Given the description of an element on the screen output the (x, y) to click on. 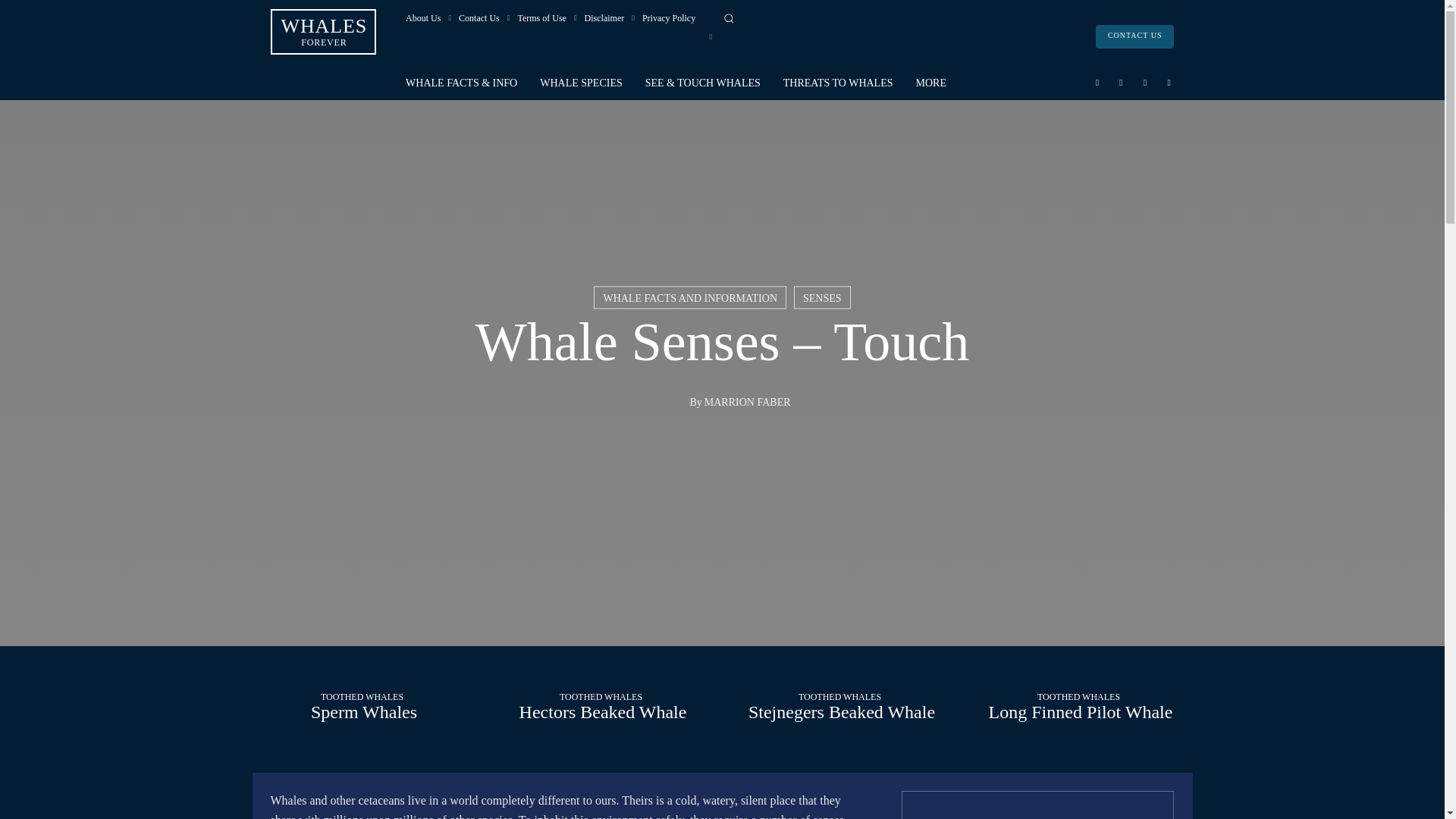
About Us (422, 17)
Contact Us (478, 17)
Twitter (1145, 82)
Facebook (1097, 82)
Instagram (1121, 82)
Contact Us (1135, 35)
Youtube (323, 31)
